Given the description of an element on the screen output the (x, y) to click on. 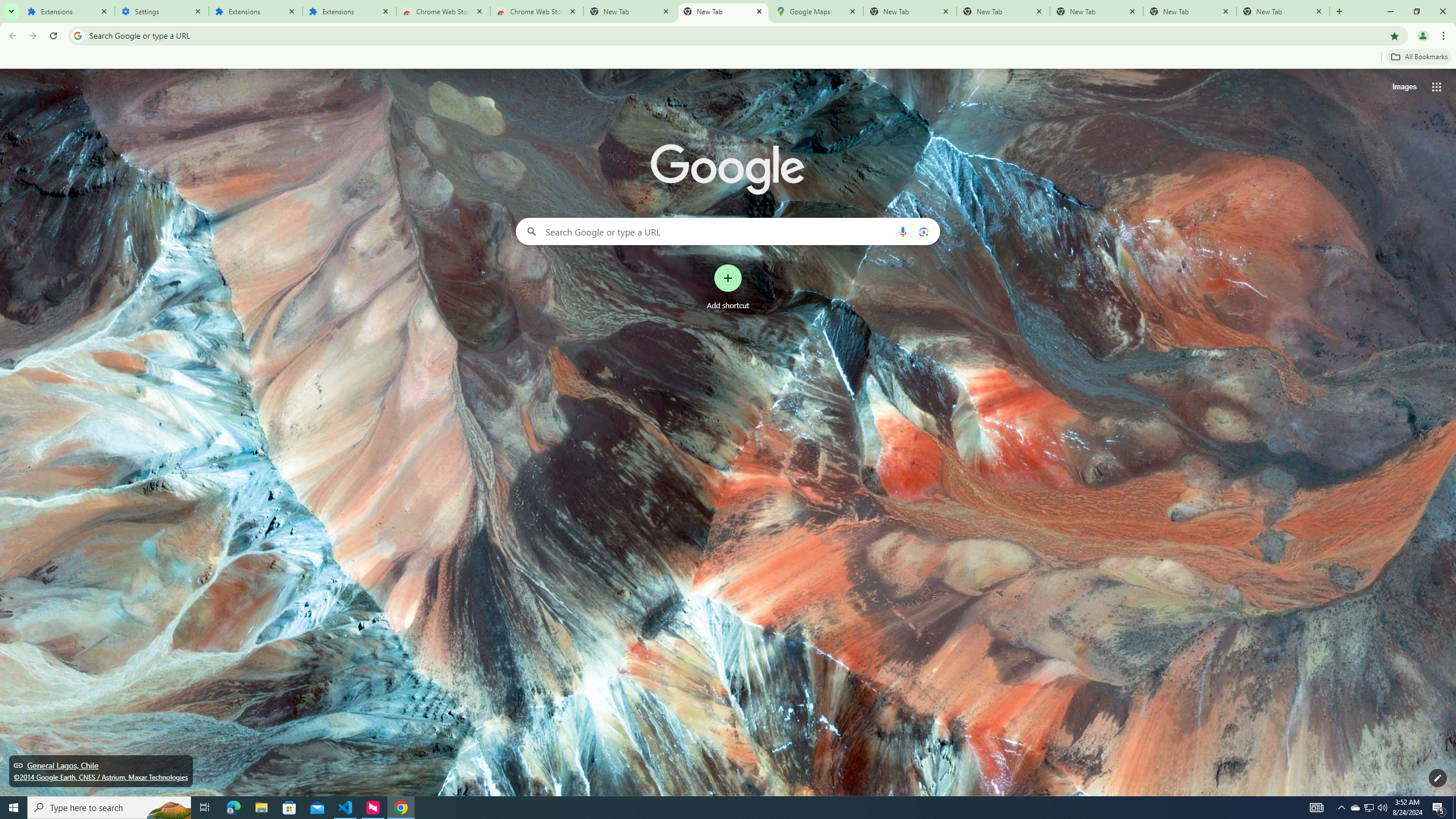
Extensions (349, 11)
